Given the description of an element on the screen output the (x, y) to click on. 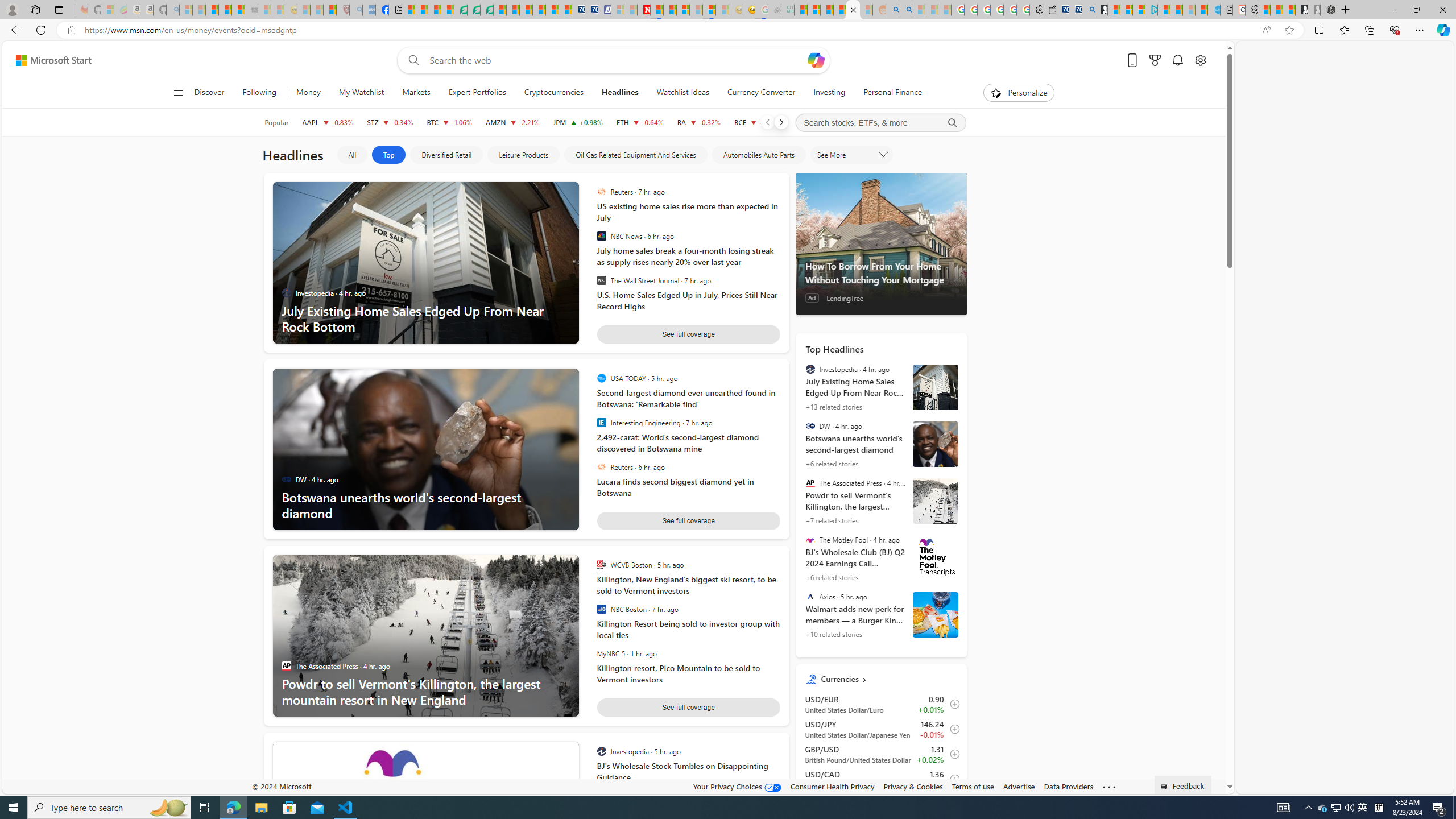
Expert Portfolios (477, 92)
See full coverage (688, 707)
Class: button-glyph (178, 92)
NBC Boston (600, 609)
Consumer Health Privacy (832, 785)
Watchlist Ideas (682, 92)
Cryptocurrencies (553, 92)
Personal Finance (893, 92)
Web search (411, 60)
Currency Converter (760, 92)
